Given the description of an element on the screen output the (x, y) to click on. 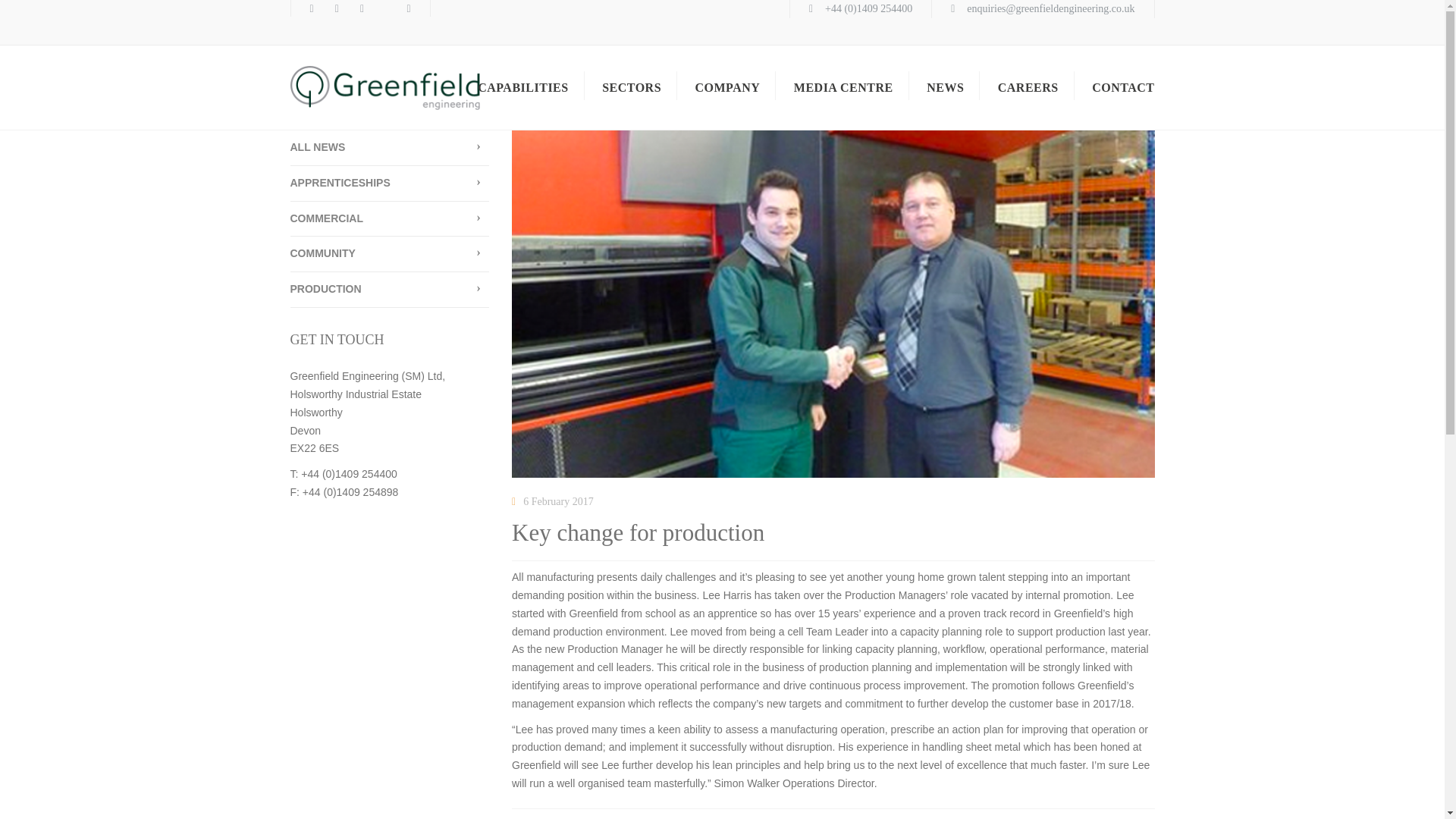
CAPABILITIES (523, 87)
MEDIA CENTRE (843, 87)
CAREERS (1027, 87)
COMMUNITY (389, 253)
COMMERCIAL (389, 219)
PRODUCTION (389, 289)
SECTORS (631, 87)
APPRENTICESHIPS (389, 183)
CONTACT (1122, 87)
COMPANY (727, 87)
Post Comment (41, 11)
ALL NEWS (389, 148)
NEWS (944, 87)
